Given the description of an element on the screen output the (x, y) to click on. 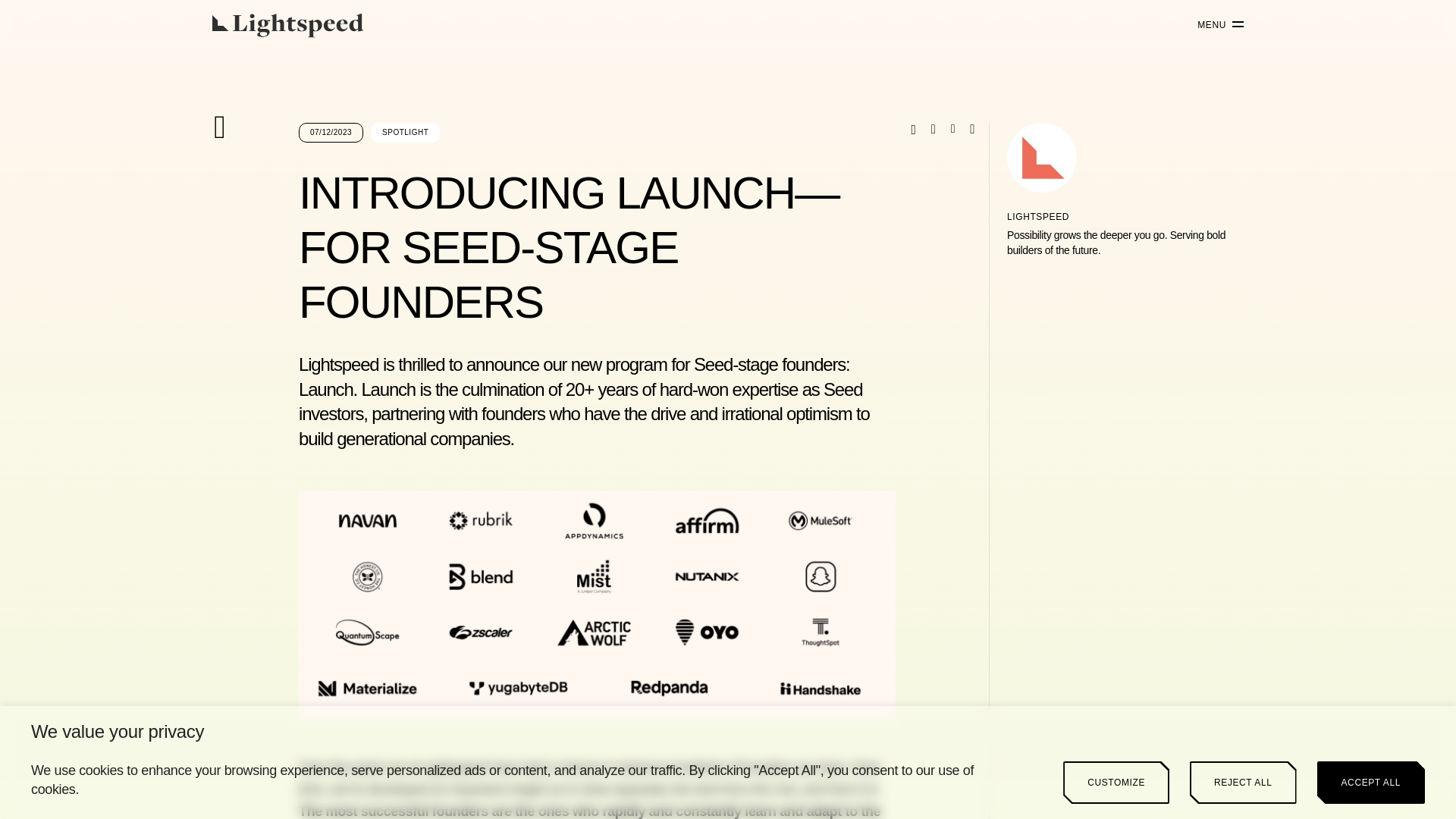
REJECT ALL (1242, 782)
CUSTOMIZE (1115, 782)
ACCEPT ALL (1371, 782)
MENU (1214, 25)
